Given the description of an element on the screen output the (x, y) to click on. 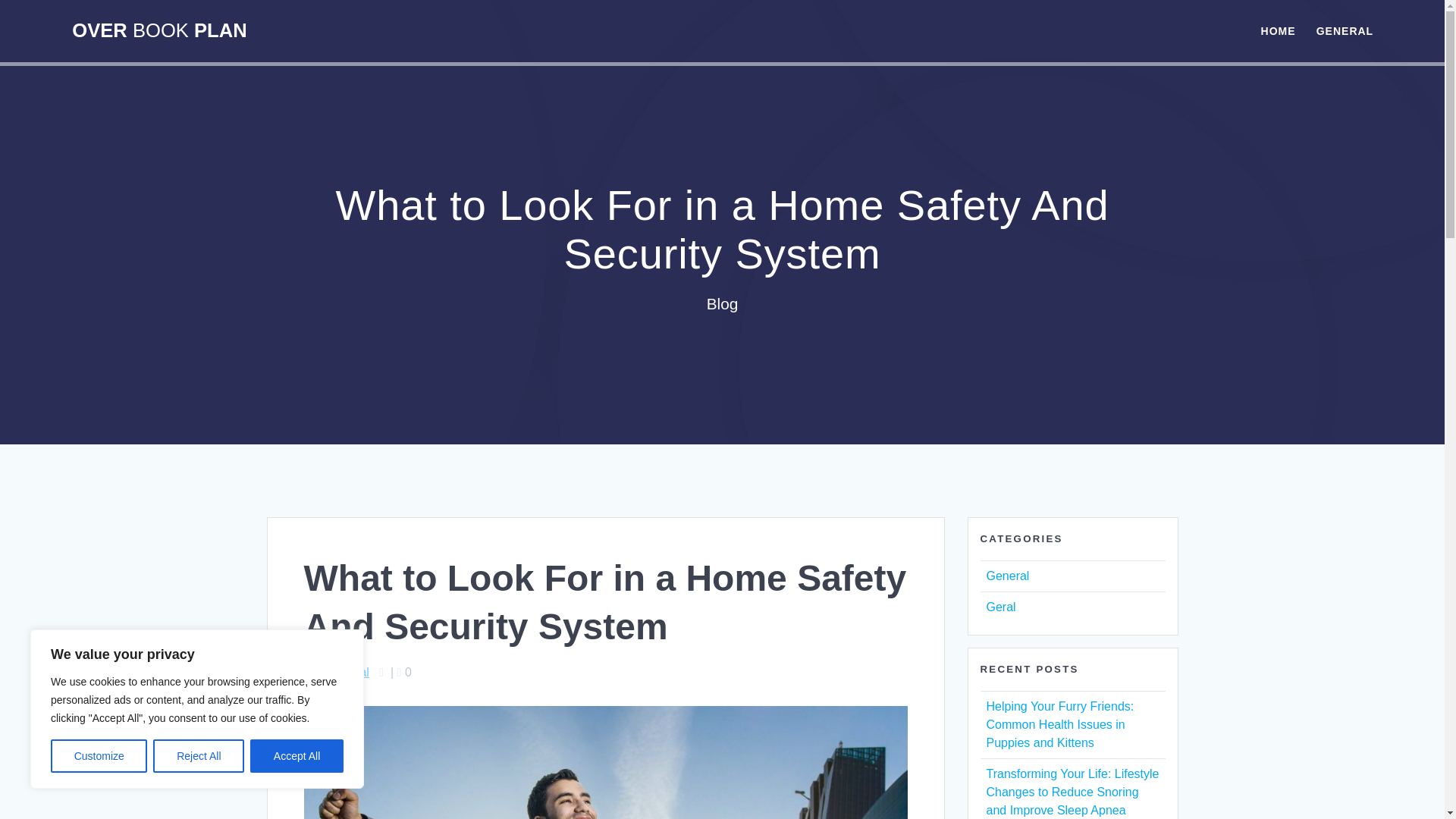
OVER BOOK PLAN (158, 30)
Reject All (198, 756)
Accept All (296, 756)
General (347, 671)
GENERAL (1344, 30)
Customize (98, 756)
Geral (999, 606)
HOME (1277, 30)
General (1007, 575)
